Given the description of an element on the screen output the (x, y) to click on. 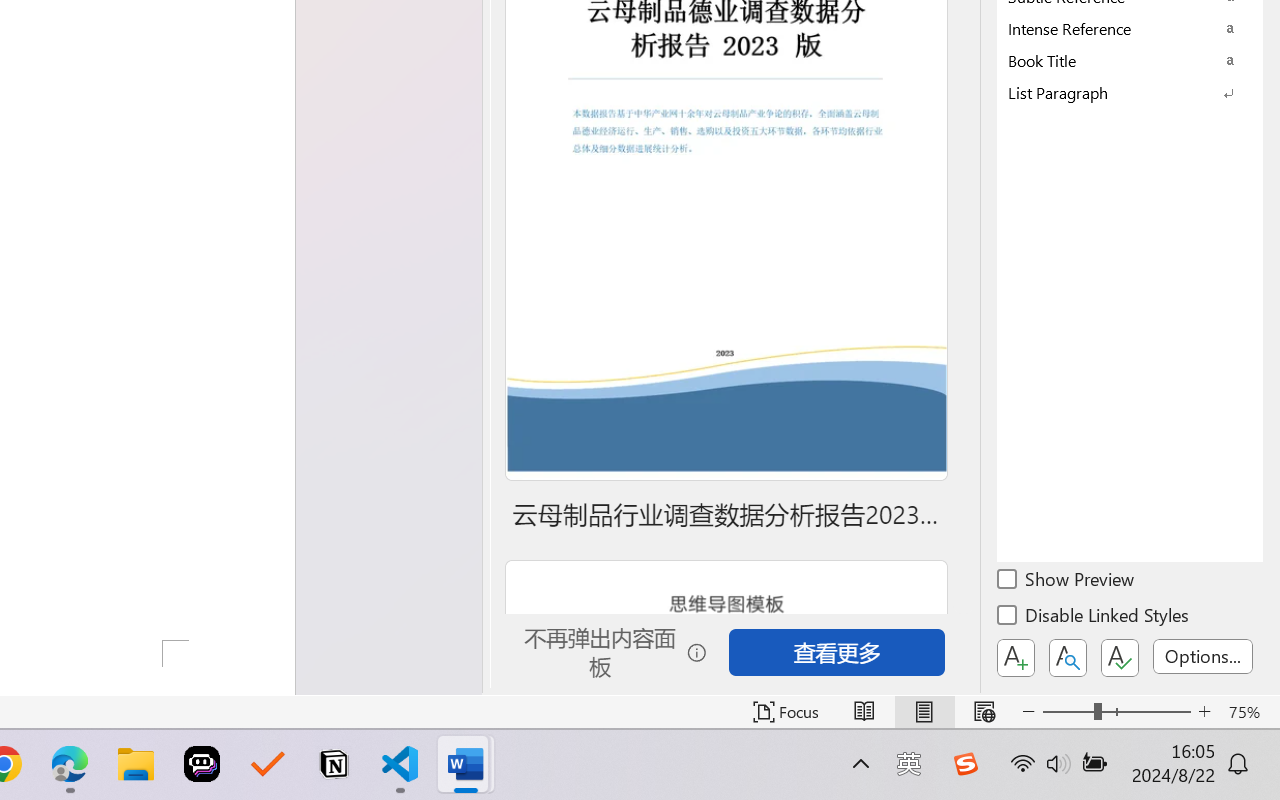
Zoom Out (1067, 712)
Class: Image (965, 764)
Options... (1203, 656)
